Given the description of an element on the screen output the (x, y) to click on. 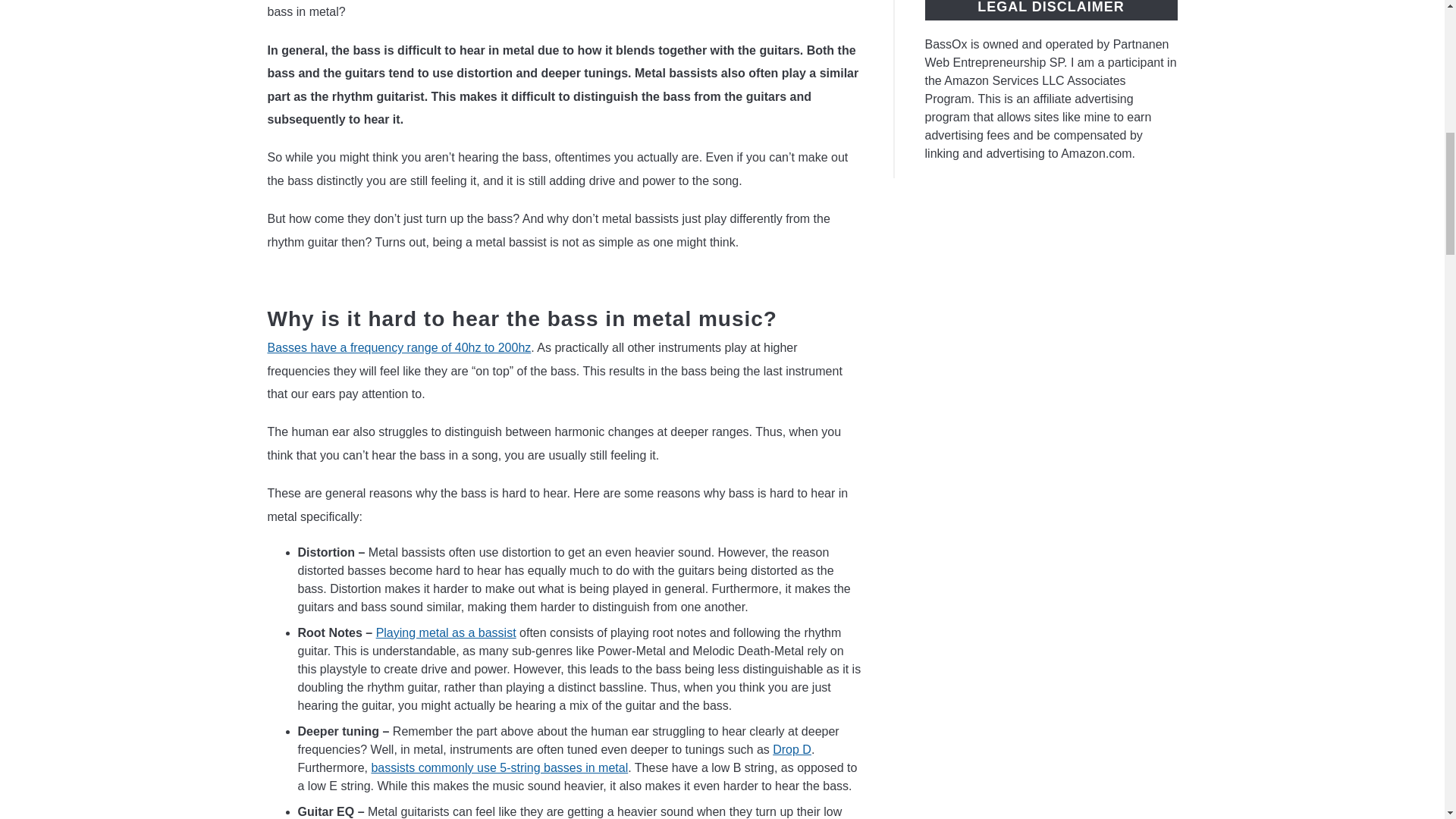
Playing metal as a bassist (445, 632)
Drop D (791, 748)
bassists commonly use 5-string basses in metal (499, 767)
Basses have a frequency range of 40hz to 200hz (398, 347)
